Given the description of an element on the screen output the (x, y) to click on. 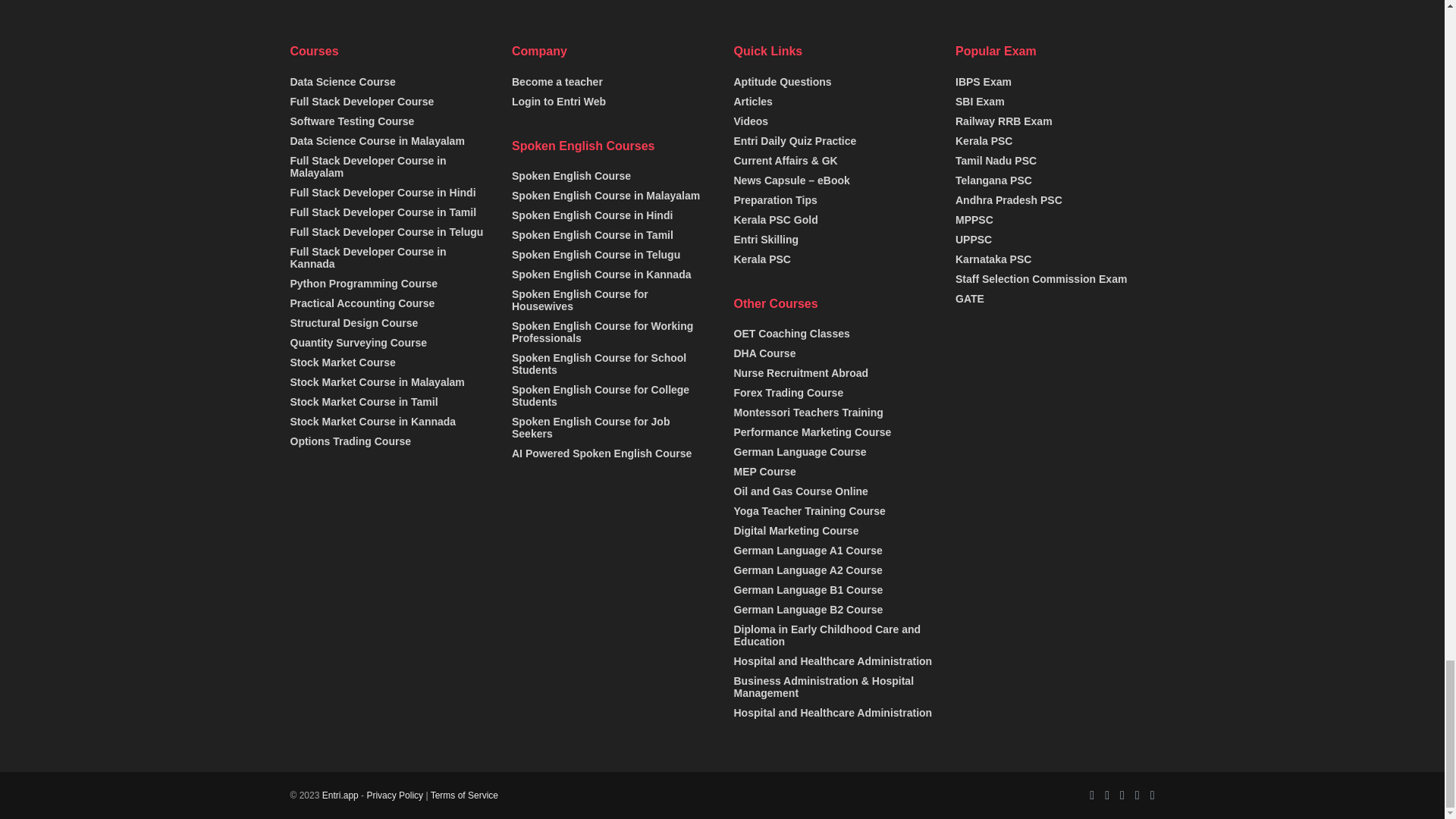
Entri (339, 795)
Terms of Service (463, 795)
